Given the description of an element on the screen output the (x, y) to click on. 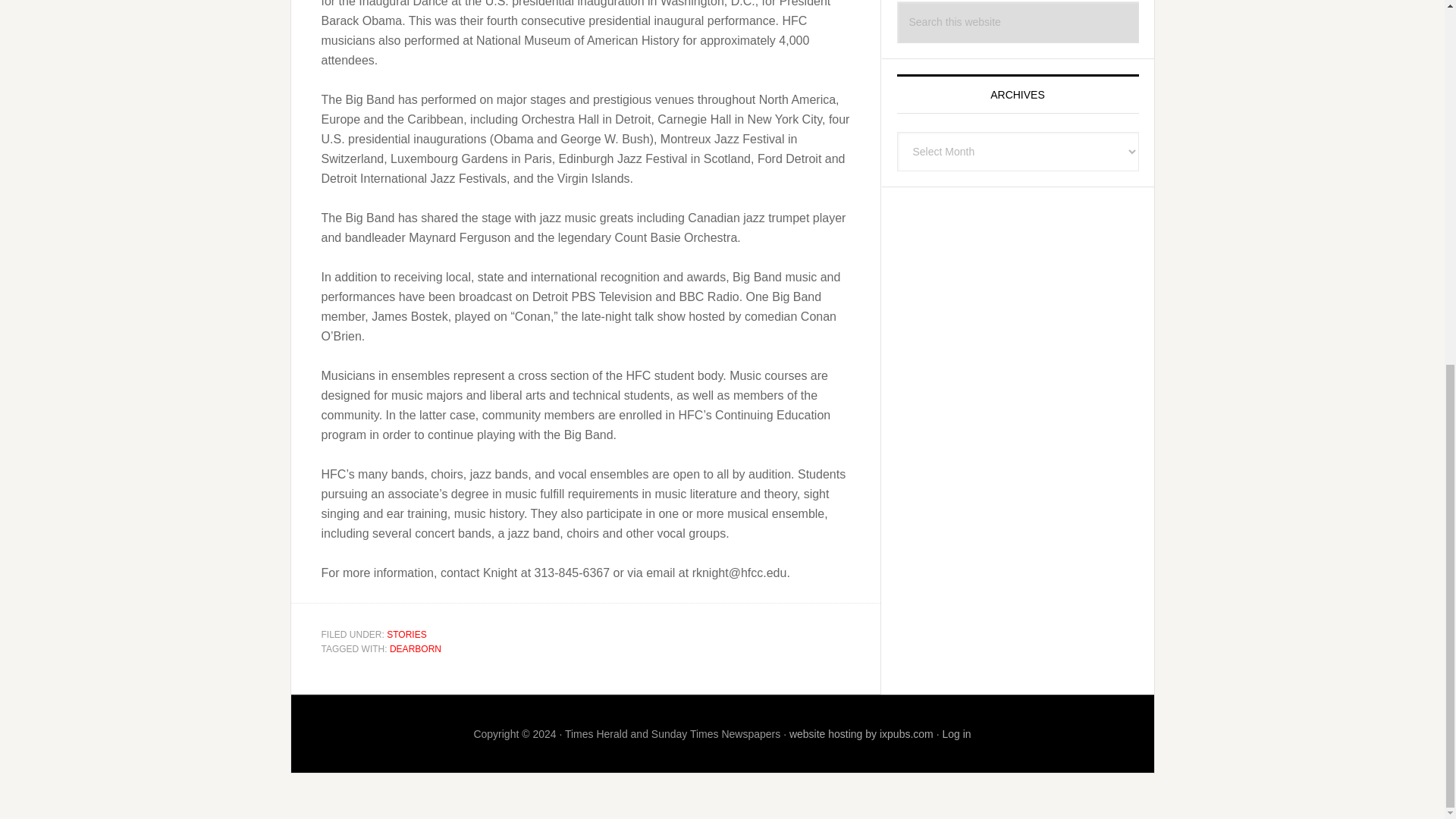
STORIES (406, 633)
website hosting by ixpubs.com (861, 733)
Log in (956, 733)
DEARBORN (415, 648)
